Given the description of an element on the screen output the (x, y) to click on. 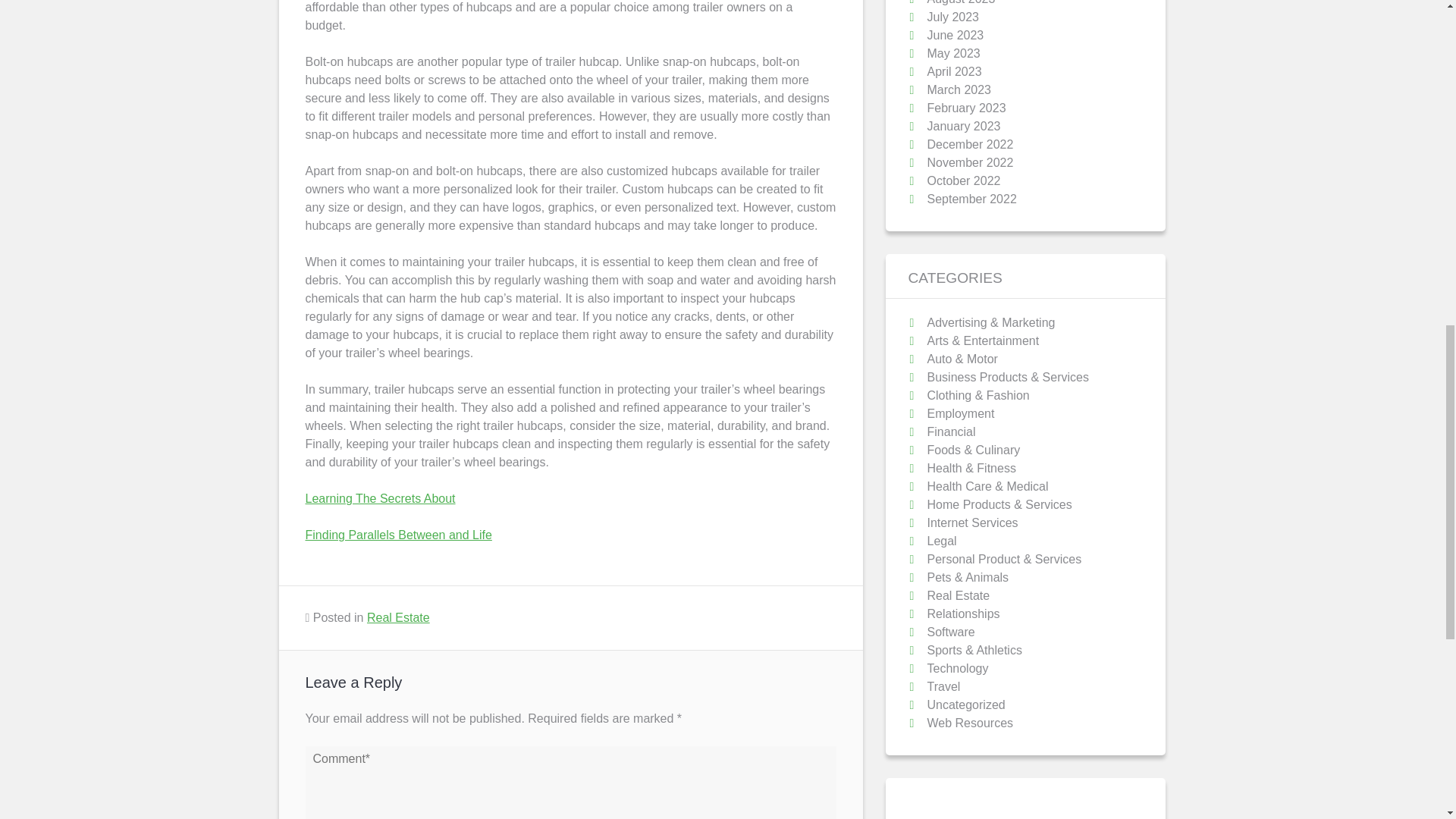
February 2023 (966, 107)
April 2023 (953, 71)
June 2023 (955, 34)
December 2022 (969, 144)
July 2023 (952, 16)
Learning The Secrets About (379, 498)
May 2023 (952, 52)
Real Estate (397, 617)
August 2023 (960, 2)
September 2022 (971, 198)
March 2023 (958, 89)
Finding Parallels Between and Life (398, 534)
October 2022 (963, 180)
November 2022 (969, 162)
January 2023 (963, 125)
